Given the description of an element on the screen output the (x, y) to click on. 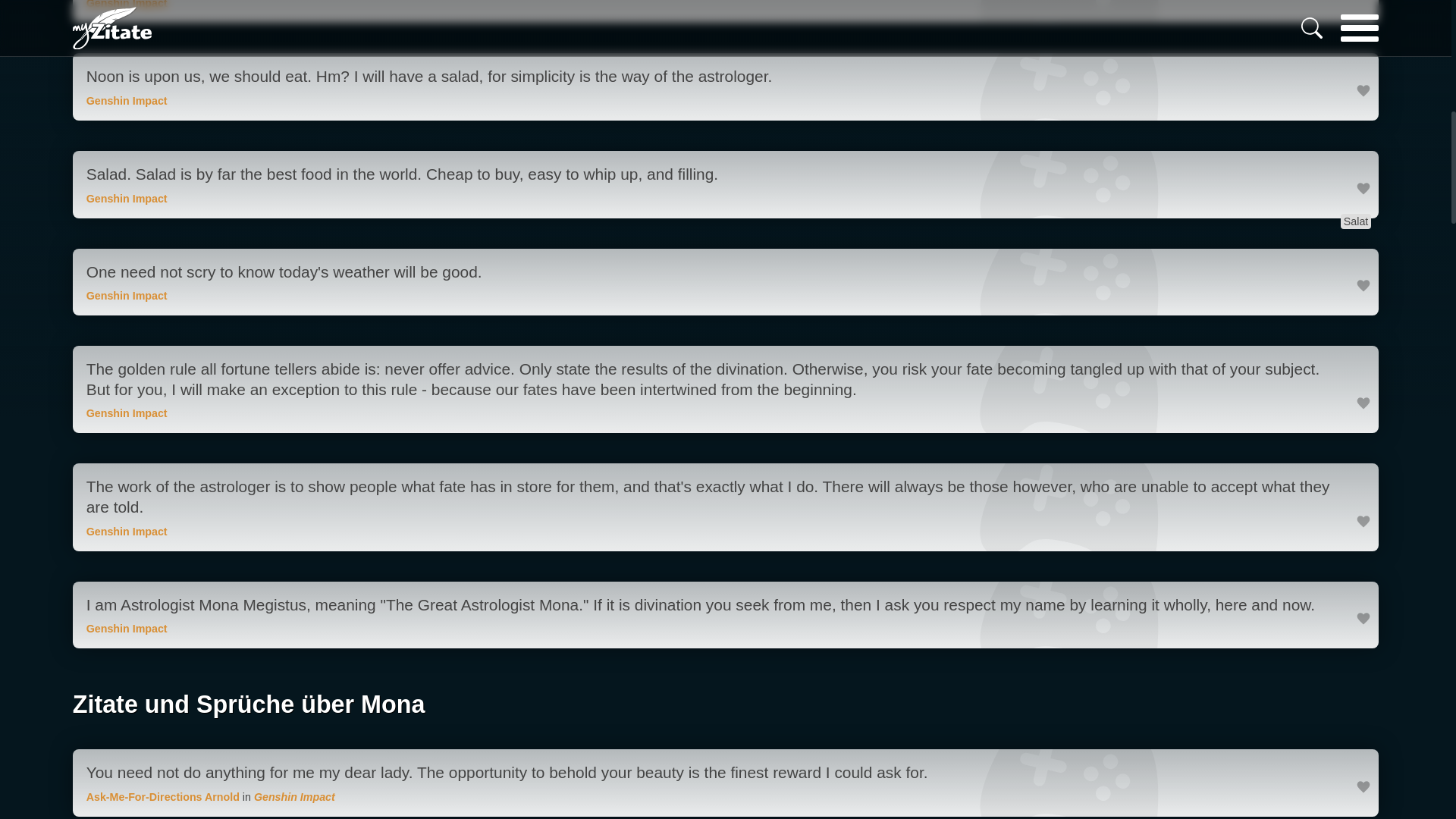
Genshin Impact (293, 797)
Genshin Impact (126, 101)
Ask-Me-For-Directions Arnold (162, 797)
Salat (1355, 221)
Genshin Impact (126, 413)
Genshin Impact (126, 530)
Genshin Impact (126, 198)
Genshin Impact (126, 4)
Genshin Impact (126, 295)
Genshin Impact (126, 628)
